Given the description of an element on the screen output the (x, y) to click on. 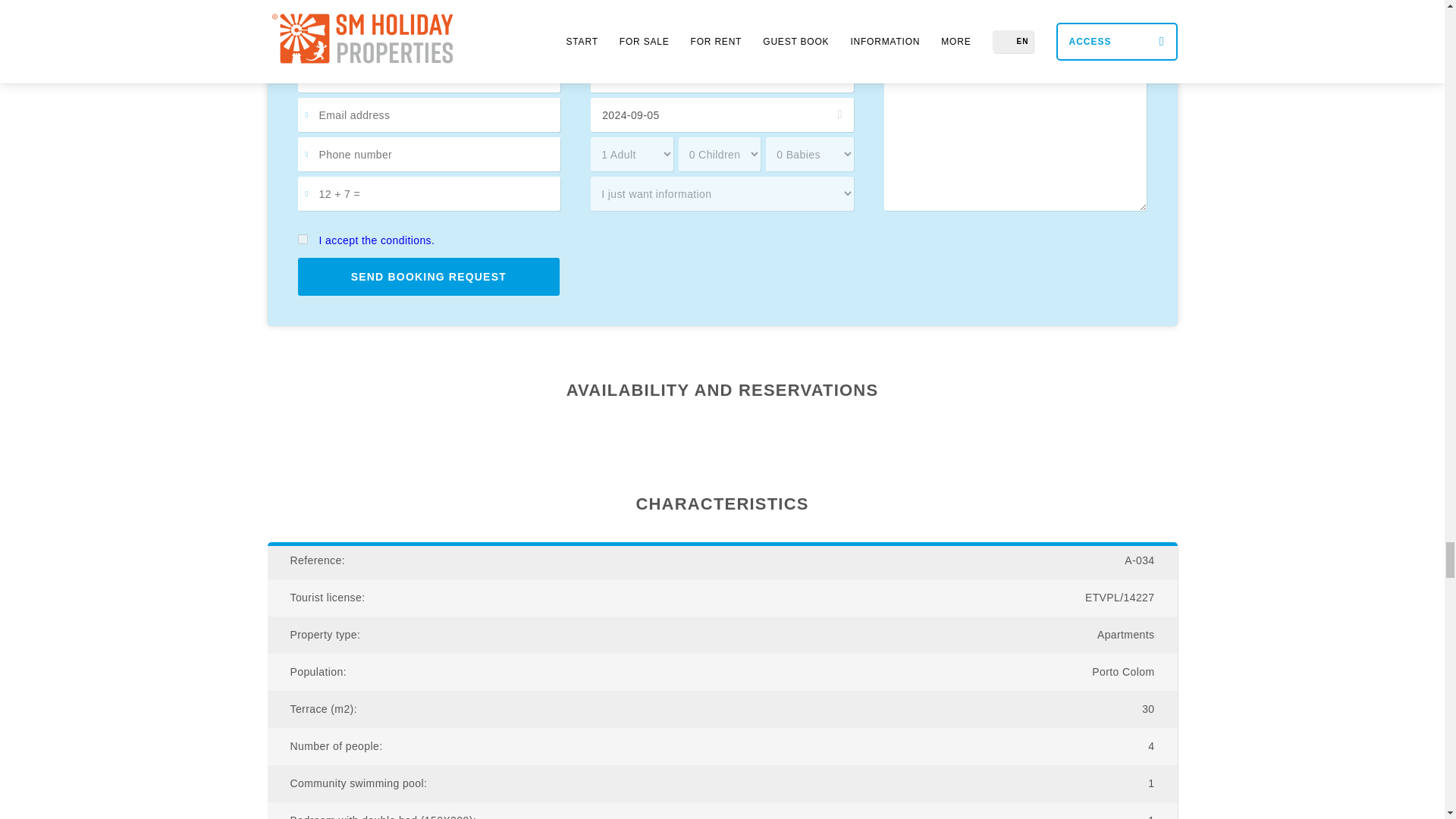
2024-08-29 (722, 75)
SEND BOOKING REQUEST (428, 276)
I accept the conditions. (375, 240)
1 (302, 239)
2024-09-05 (722, 114)
